Given the description of an element on the screen output the (x, y) to click on. 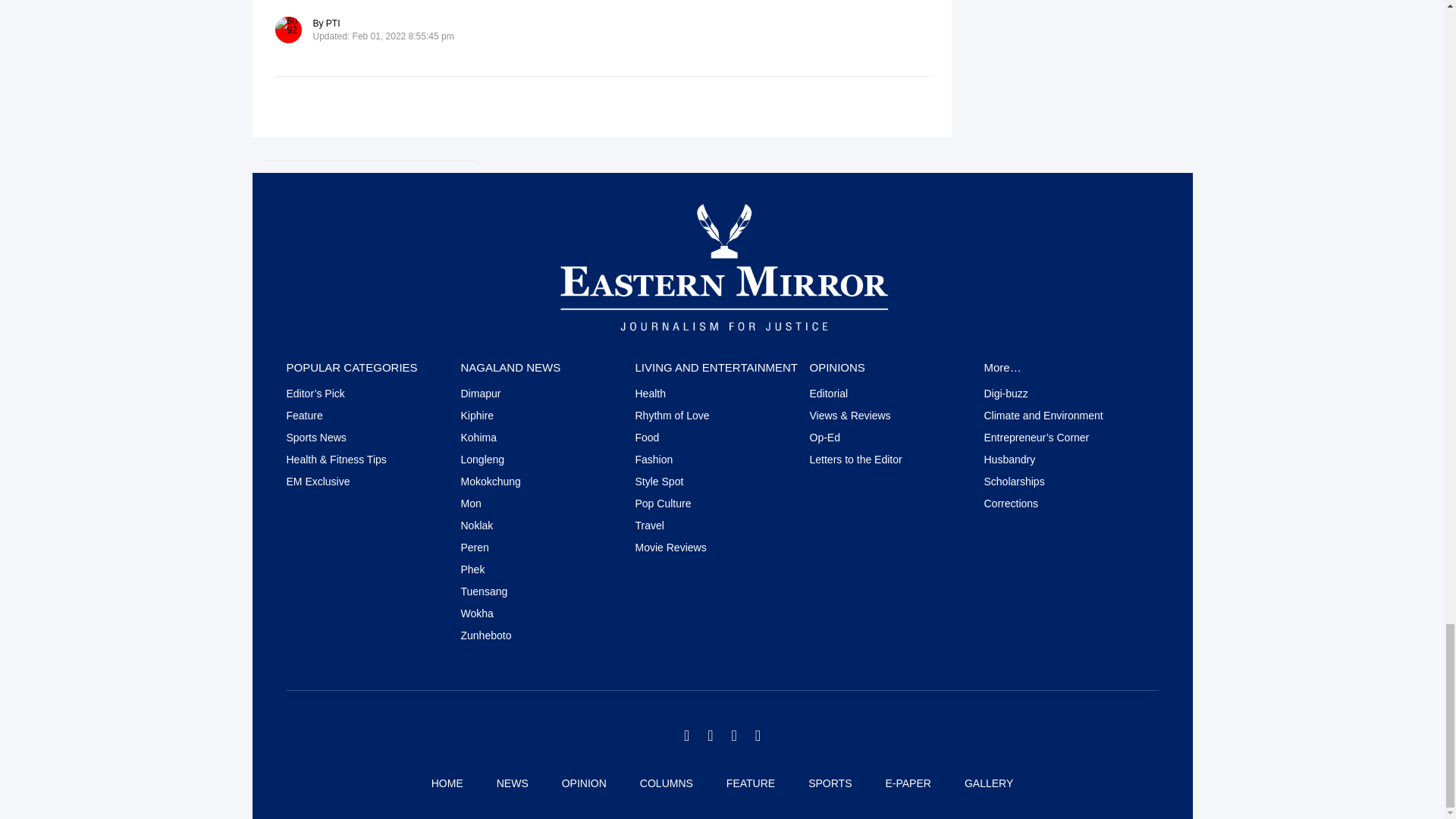
Twitter (686, 735)
Youtube (757, 735)
Facebook (710, 735)
Instagram (733, 735)
Eastern Mirror (721, 266)
